Given the description of an element on the screen output the (x, y) to click on. 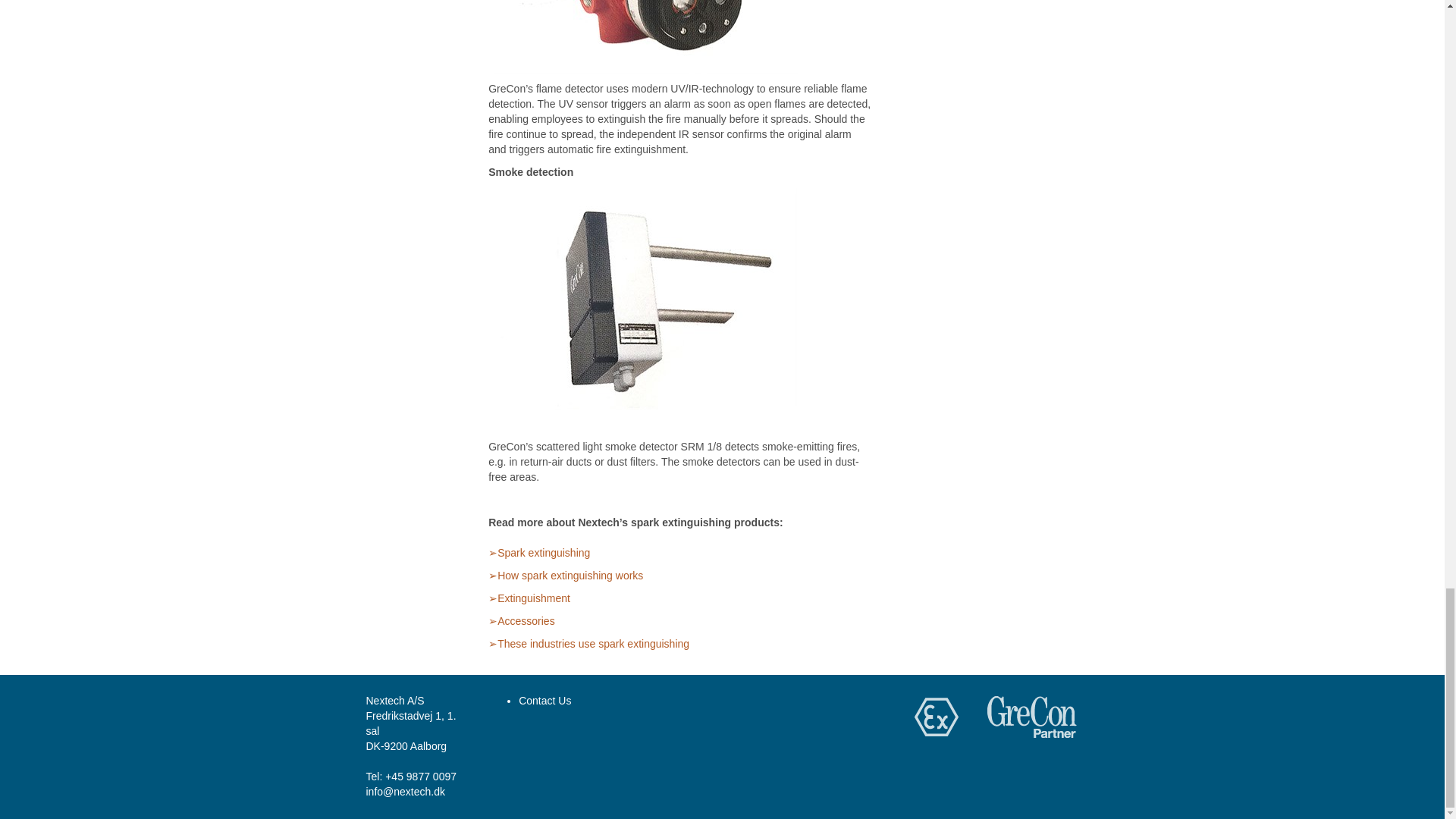
Spark extinguishing (538, 552)
Extinguishment (528, 598)
These industries use spark extinguishing (587, 644)
Contact Us (544, 700)
Accessories (520, 621)
How spark extinguishing works (565, 575)
